Given the description of an element on the screen output the (x, y) to click on. 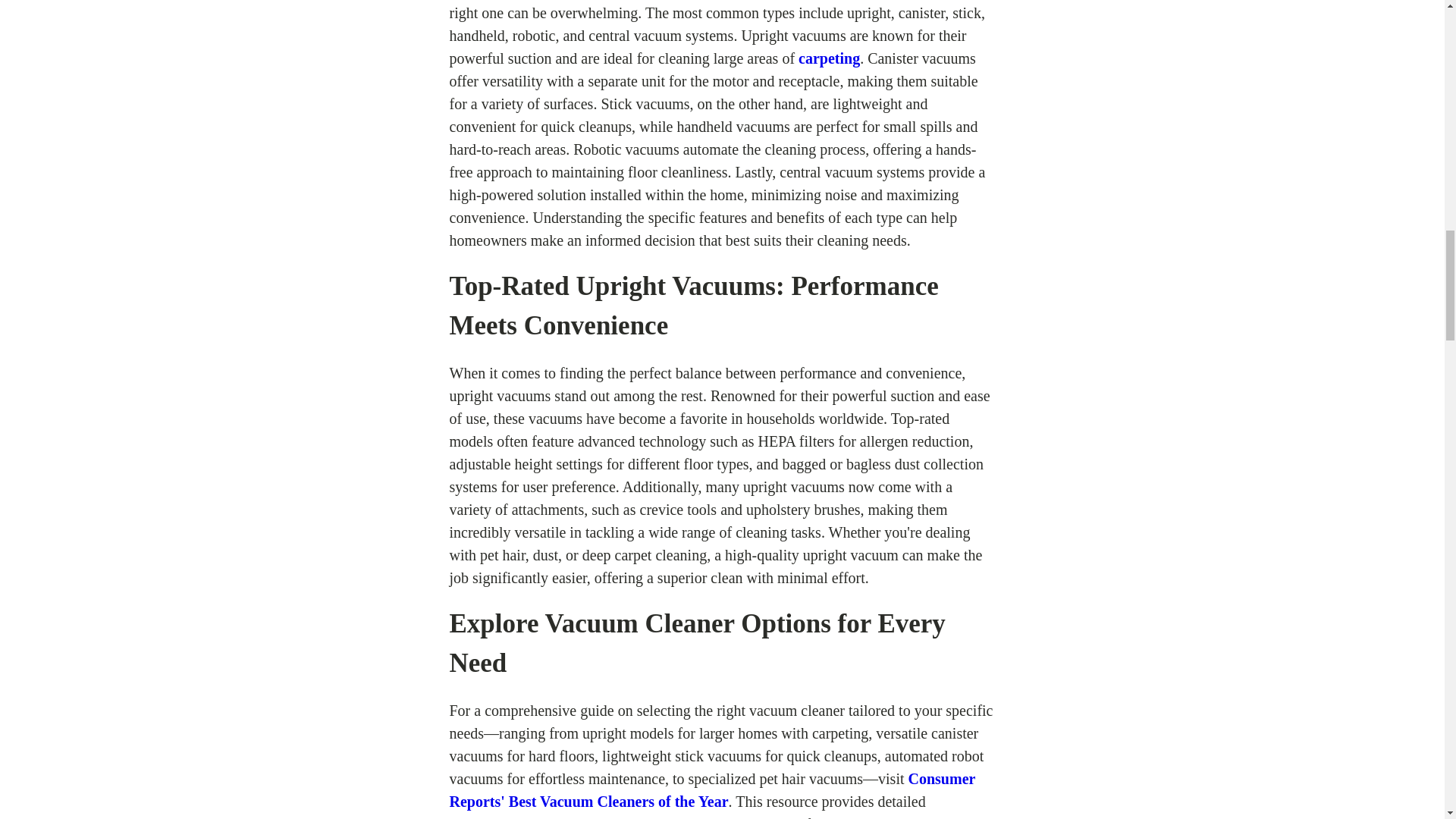
carpeting (828, 57)
carpeting (828, 57)
Consumer Reports' Best Vacuum Cleaners of the Year (711, 789)
